Given the description of an element on the screen output the (x, y) to click on. 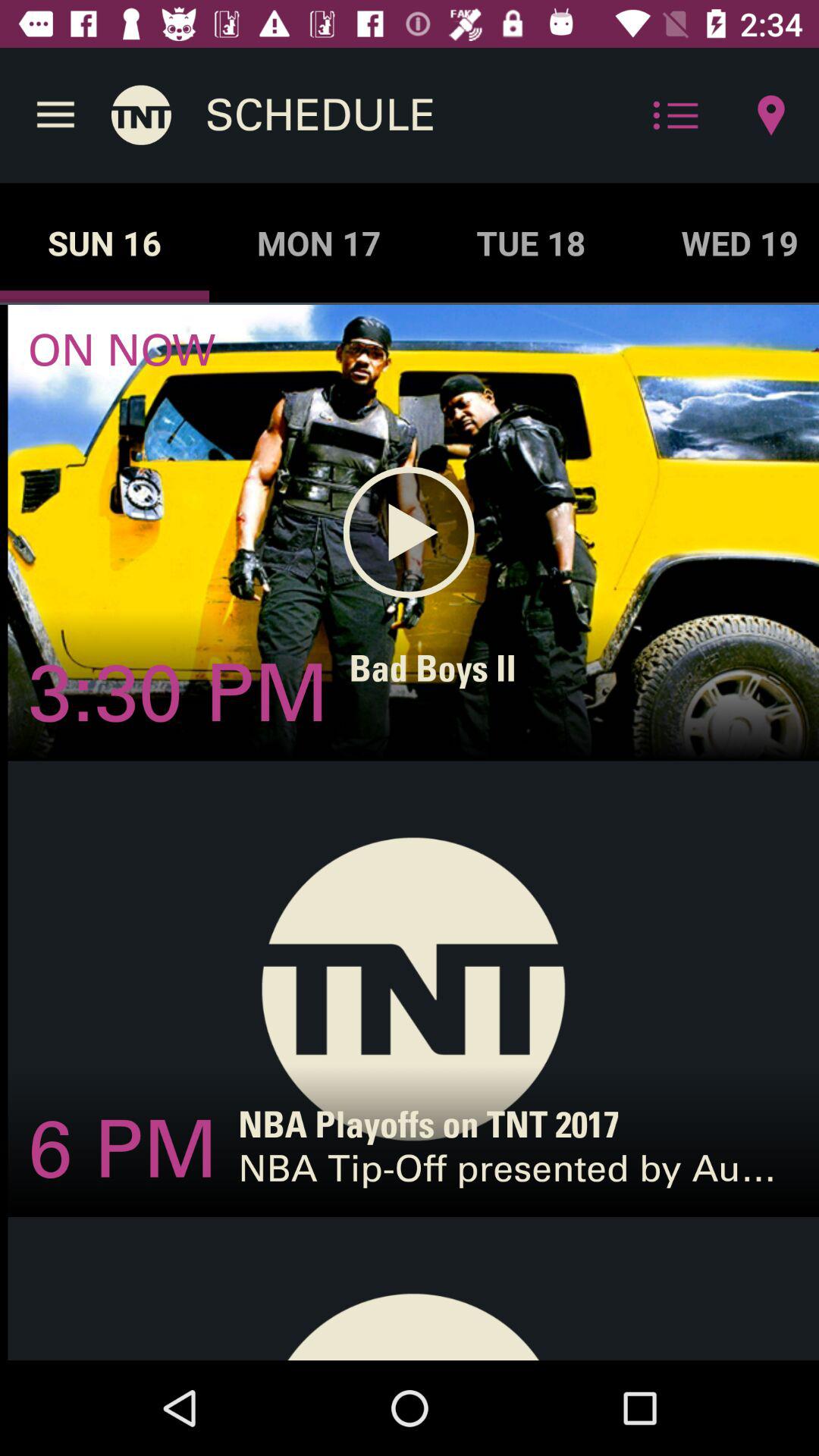
turn off wed 19 (726, 242)
